Given the description of an element on the screen output the (x, y) to click on. 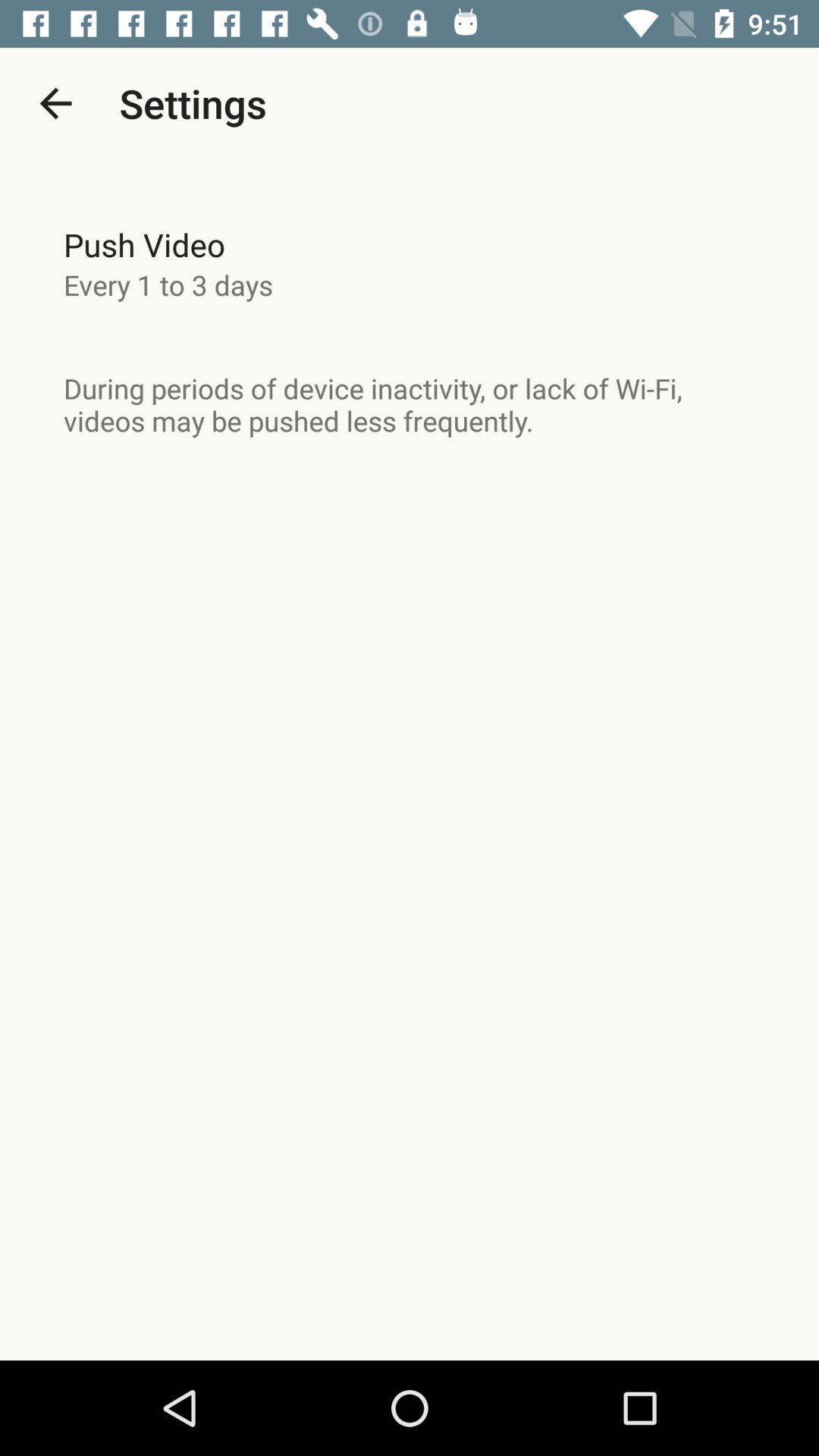
press the item above push video icon (55, 103)
